Given the description of an element on the screen output the (x, y) to click on. 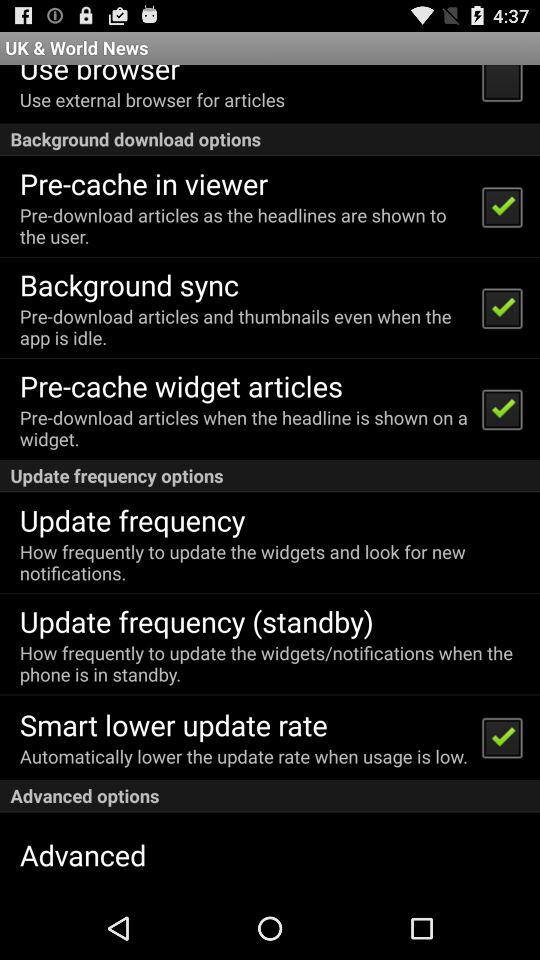
choose the icon below smart lower update icon (243, 755)
